Given the description of an element on the screen output the (x, y) to click on. 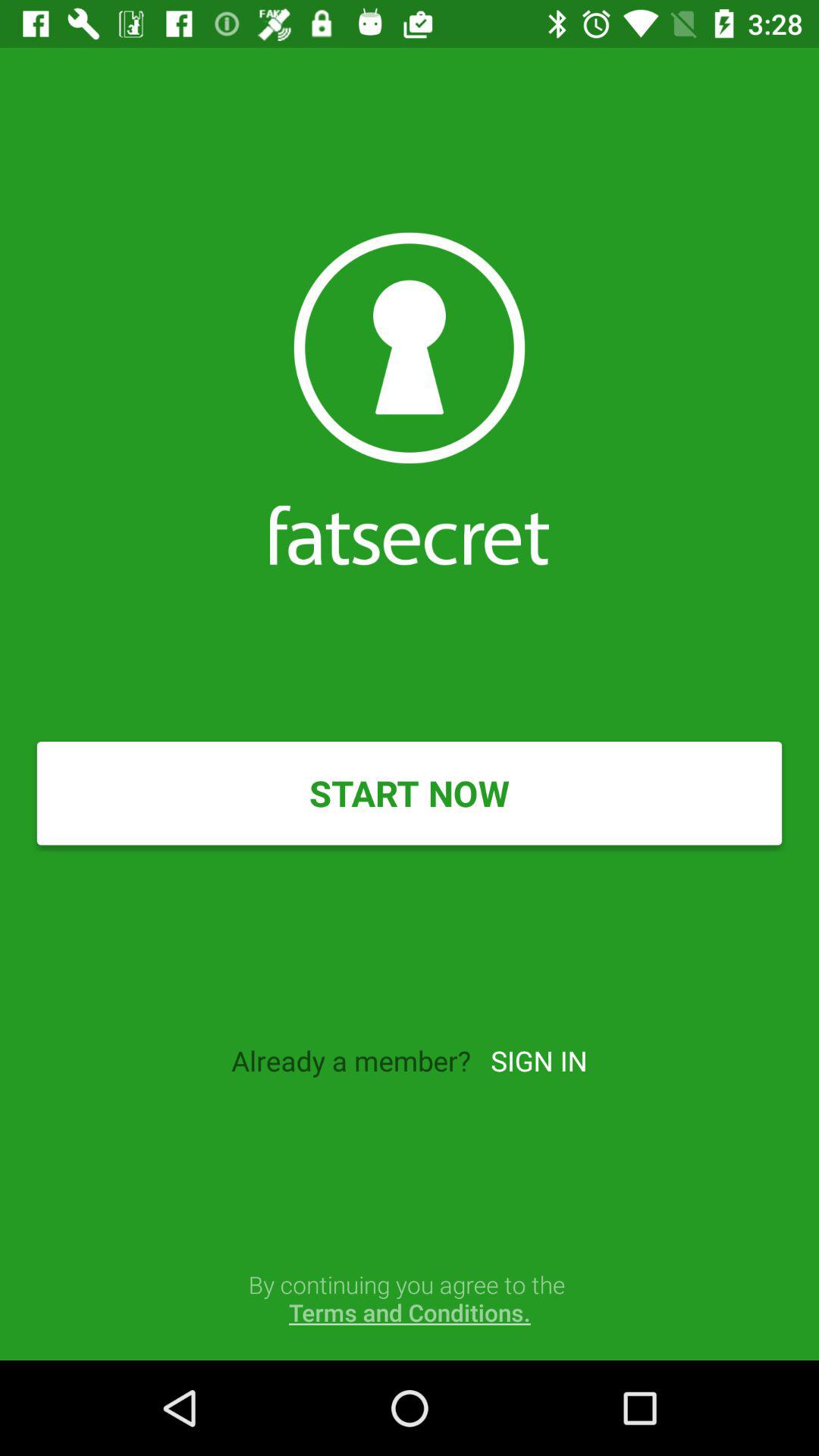
turn on item to the right of already a member? (538, 1060)
